Given the description of an element on the screen output the (x, y) to click on. 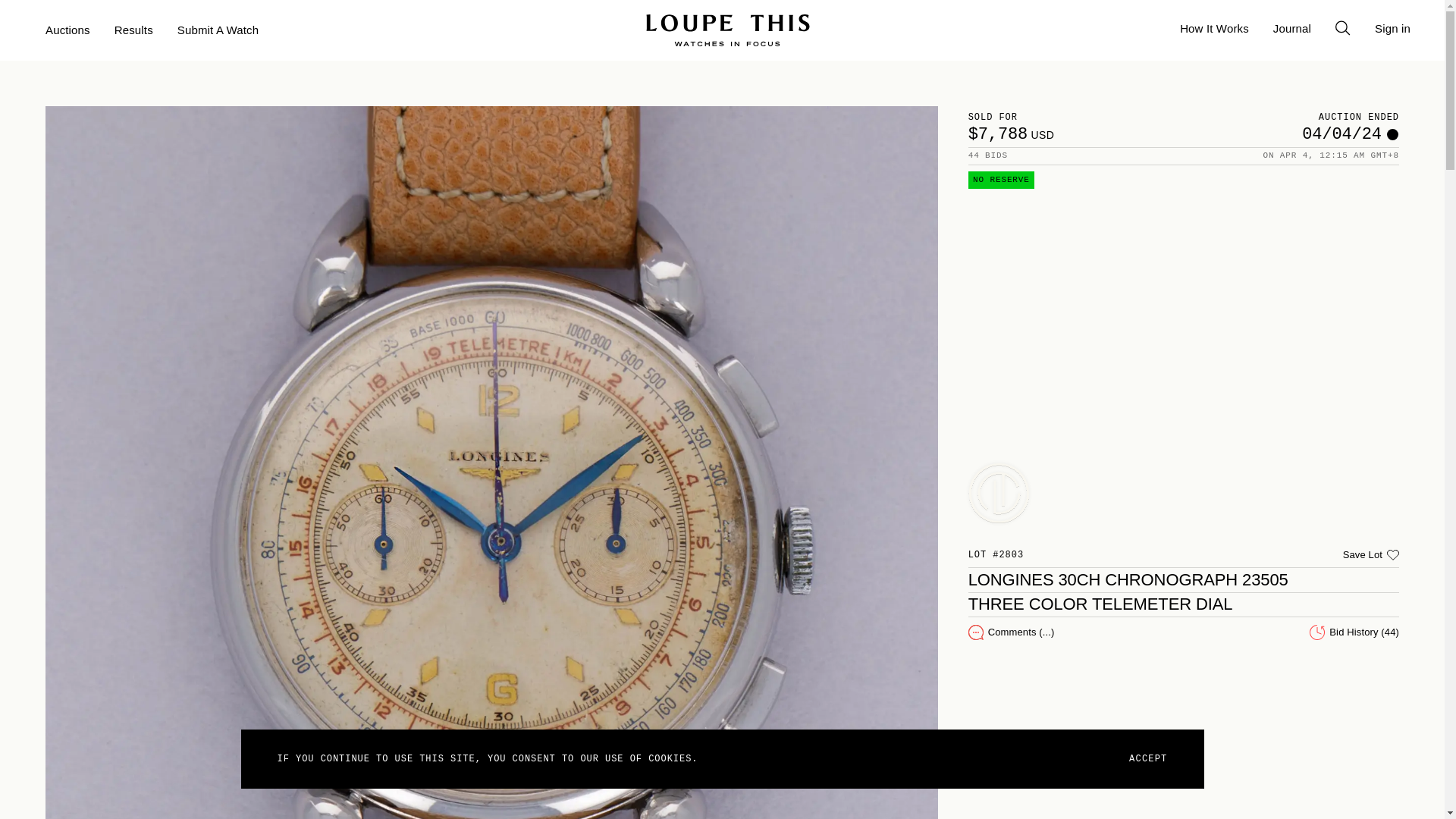
Auctions (67, 29)
Sign in (1392, 28)
Loupe This (727, 29)
Submit A Watch (218, 29)
How It Works (1214, 28)
Results (133, 29)
Journal (1291, 28)
